Given the description of an element on the screen output the (x, y) to click on. 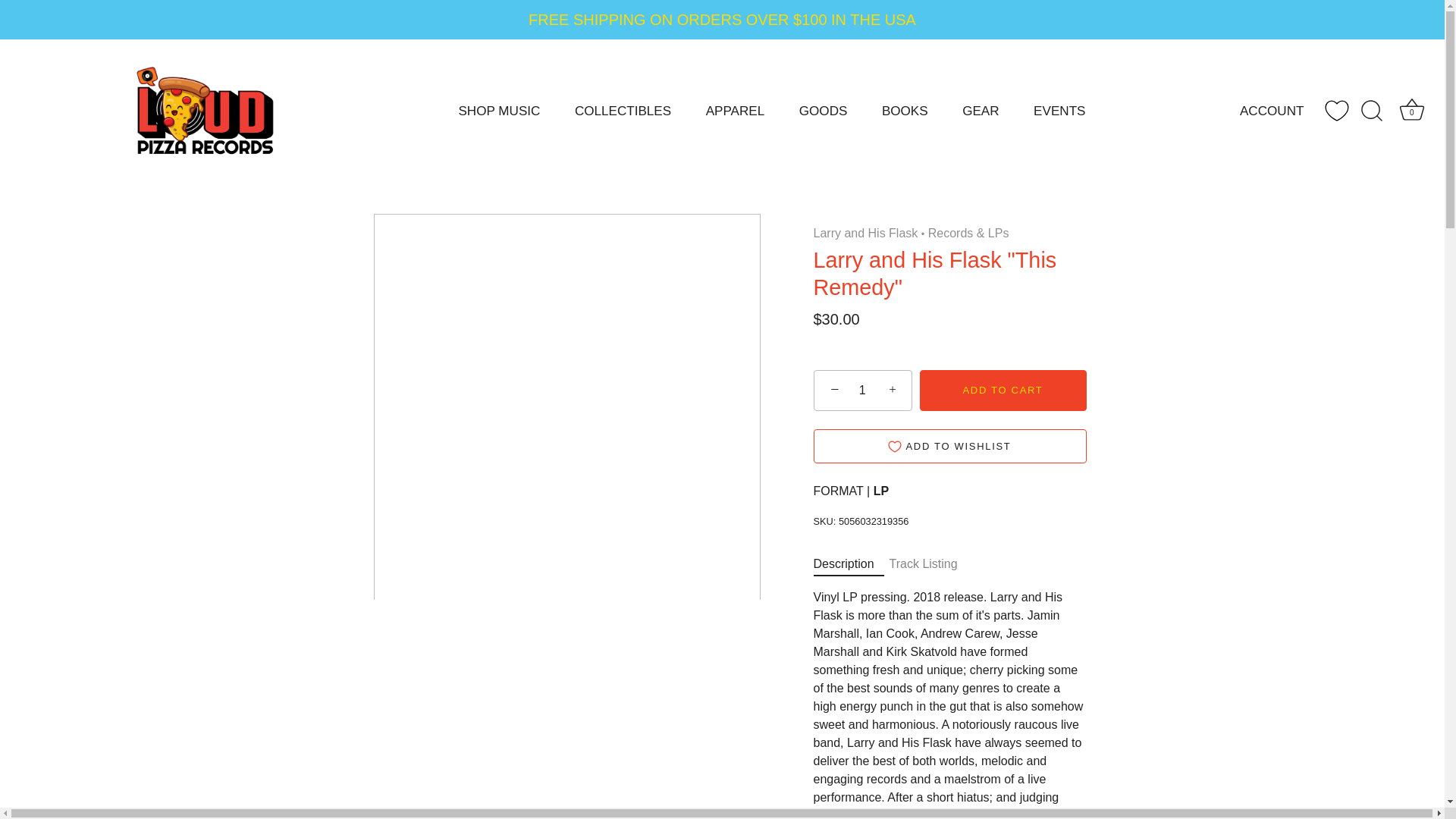
Basket (1411, 109)
SHOP MUSIC (499, 110)
COLLECTIBLES (622, 110)
